Given the description of an element on the screen output the (x, y) to click on. 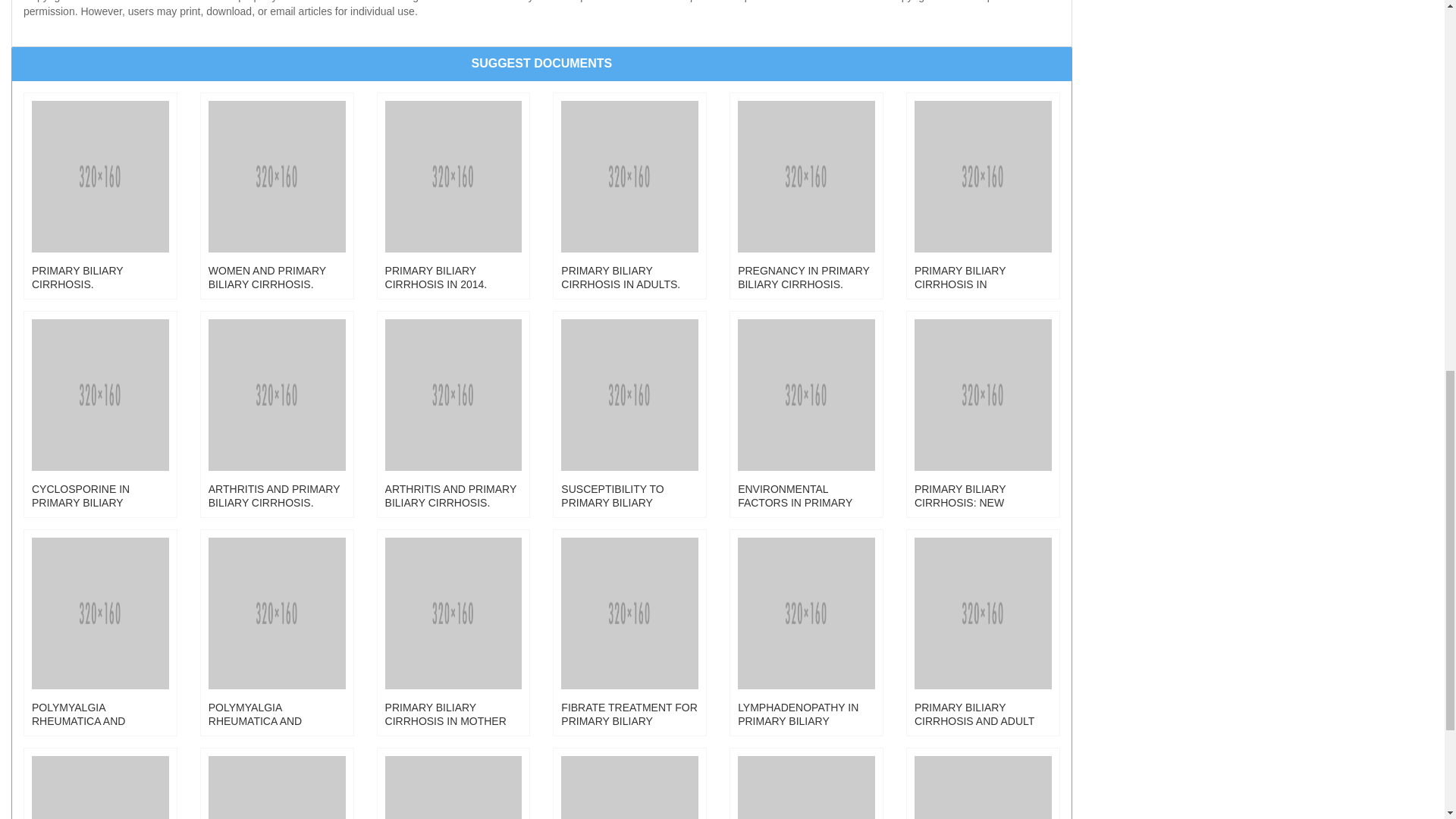
PRIMARY BILIARY CIRRHOSIS. (100, 230)
ENVIRONMENTAL FACTORS IN PRIMARY BILIARY CIRRHOSIS. (806, 448)
ARTHRITIS AND PRIMARY BILIARY CIRRHOSIS. (277, 448)
FIBRATE TREATMENT FOR PRIMARY BILIARY CIRRHOSIS. (629, 667)
PRIMARY BILIARY CIRRHOSIS IN 2014. (453, 230)
PRIMARY BILIARY CIRRHOSIS IN MOTHER AND DAUGHTER. (453, 667)
PRIMARY BILIARY CIRRHOSIS IN ADULTS. (629, 230)
PRIMARY BILIARY CIRRHOSIS: NEW THERAPEUTIC DIRECTIONS. (982, 448)
ARTHRITIS AND PRIMARY BILIARY CIRRHOSIS. (453, 448)
PRIMARY BILIARY CIRRHOSIS IN BROTHERS. (982, 230)
